Given the description of an element on the screen output the (x, y) to click on. 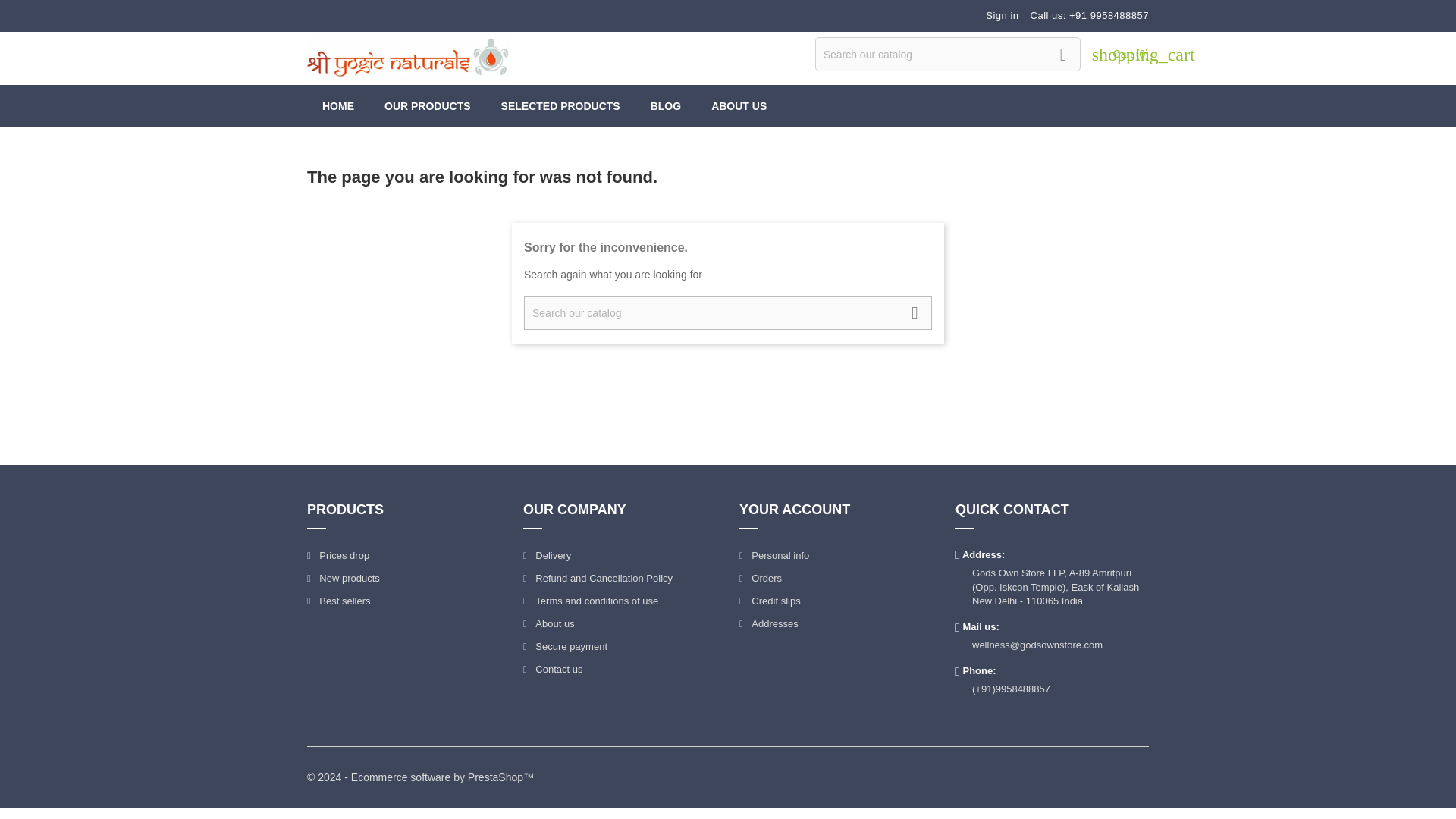
Personal info (774, 555)
About us (548, 623)
Legal notice (597, 577)
ABOUT US (738, 106)
Credit slips (769, 600)
Addresses (768, 623)
HOME (338, 106)
Prices drop (338, 555)
Personal info (774, 555)
Log in to your customer account (1001, 15)
Our new products (343, 577)
Best sellers (339, 600)
Refund and Cancellation Policy (597, 577)
Learn more about us (548, 623)
YOUR ACCOUNT (794, 509)
